Given the description of an element on the screen output the (x, y) to click on. 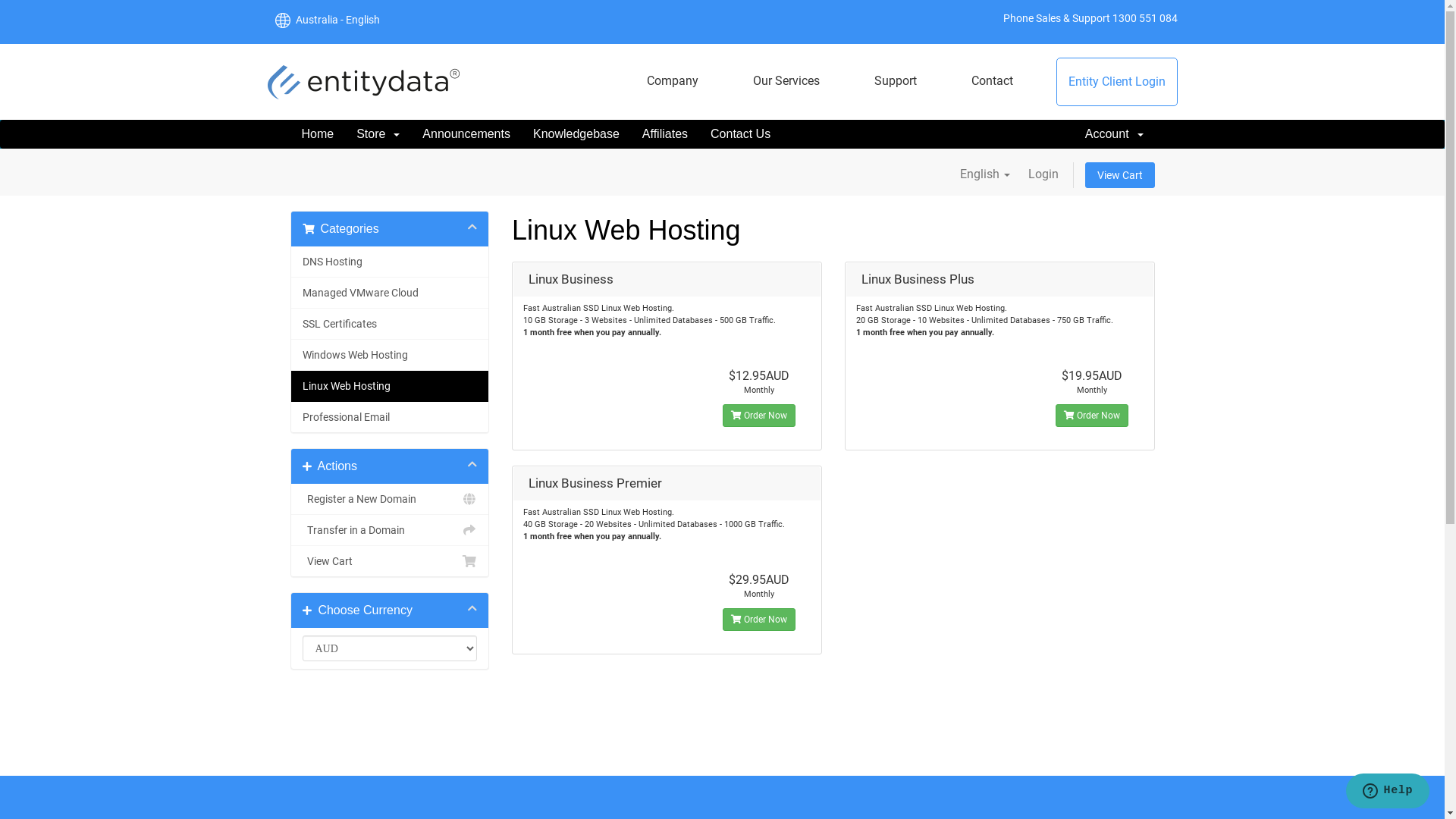
Professional Email Element type: text (390, 416)
Login Element type: text (1043, 174)
Our Services Element type: text (786, 80)
  Register a New Domain Element type: text (390, 498)
  View Cart Element type: text (390, 561)
Order Now Element type: text (758, 619)
Order Now Element type: text (1091, 415)
Knowledgebase Element type: text (575, 133)
Affiliates Element type: text (664, 133)
Australia - English   Element type: text (334, 19)
Order Now Element type: text (758, 415)
Home Element type: text (317, 133)
Support Element type: text (895, 80)
Announcements Element type: text (466, 133)
View Cart Element type: text (1119, 175)
Opens a widget where you can find more information Element type: hover (1387, 792)
Contact Element type: text (992, 80)
Managed VMware Cloud Element type: text (390, 292)
English Element type: text (984, 174)
Store   Element type: text (378, 133)
Entity Client Login Element type: text (1116, 81)
1300 551 084 Element type: text (1143, 18)
DNS Hosting Element type: text (390, 261)
Account   Element type: text (1113, 133)
  Transfer in a Domain Element type: text (390, 530)
SSL Certificates Element type: text (390, 323)
Linux Web Hosting Element type: text (390, 385)
Company Element type: text (672, 80)
Windows Web Hosting Element type: text (390, 354)
Contact Us Element type: text (740, 133)
